Given the description of an element on the screen output the (x, y) to click on. 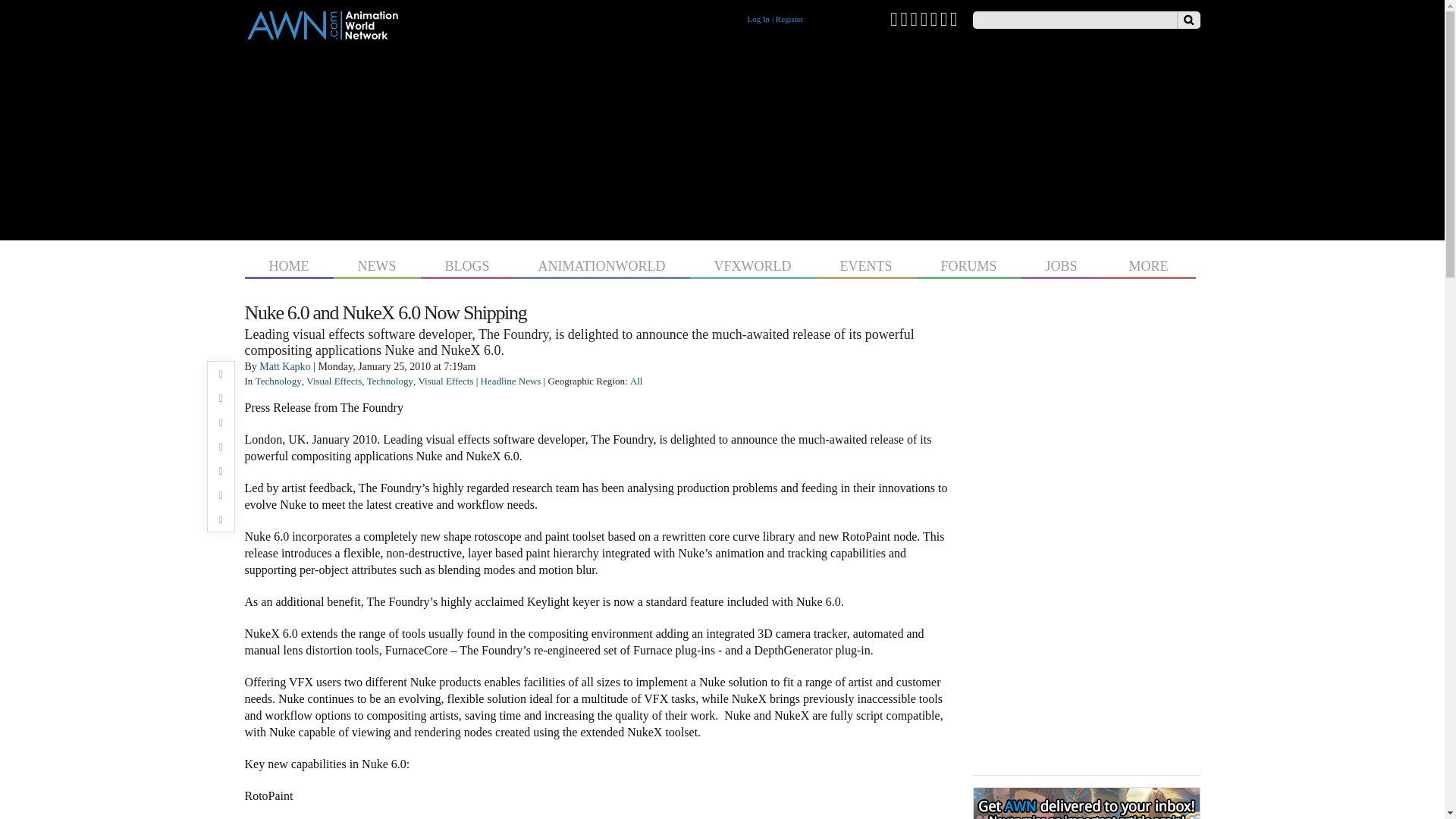
BLOGS (466, 263)
Technology (278, 380)
JOBS (1062, 263)
Matt Kapko (284, 366)
Visual Effects (333, 380)
Skip to main content (693, 1)
Register (789, 18)
Technology (389, 380)
Log In (758, 18)
Animation World Network (321, 35)
